Given the description of an element on the screen output the (x, y) to click on. 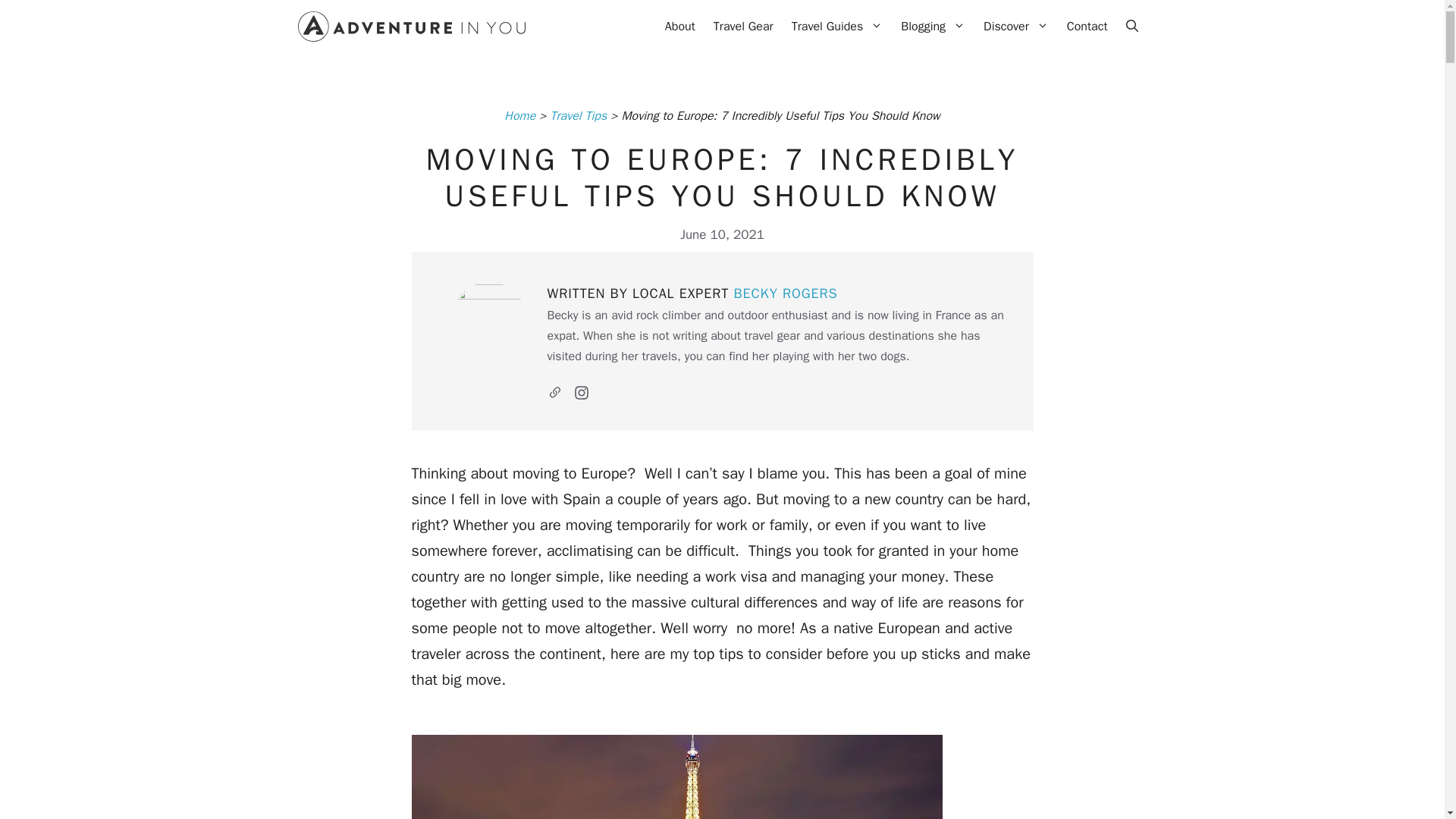
About (680, 26)
Best Travel Gear (743, 26)
Travel Gear (743, 26)
Travel Guides (837, 26)
About Adventure In You (680, 26)
